Given the description of an element on the screen output the (x, y) to click on. 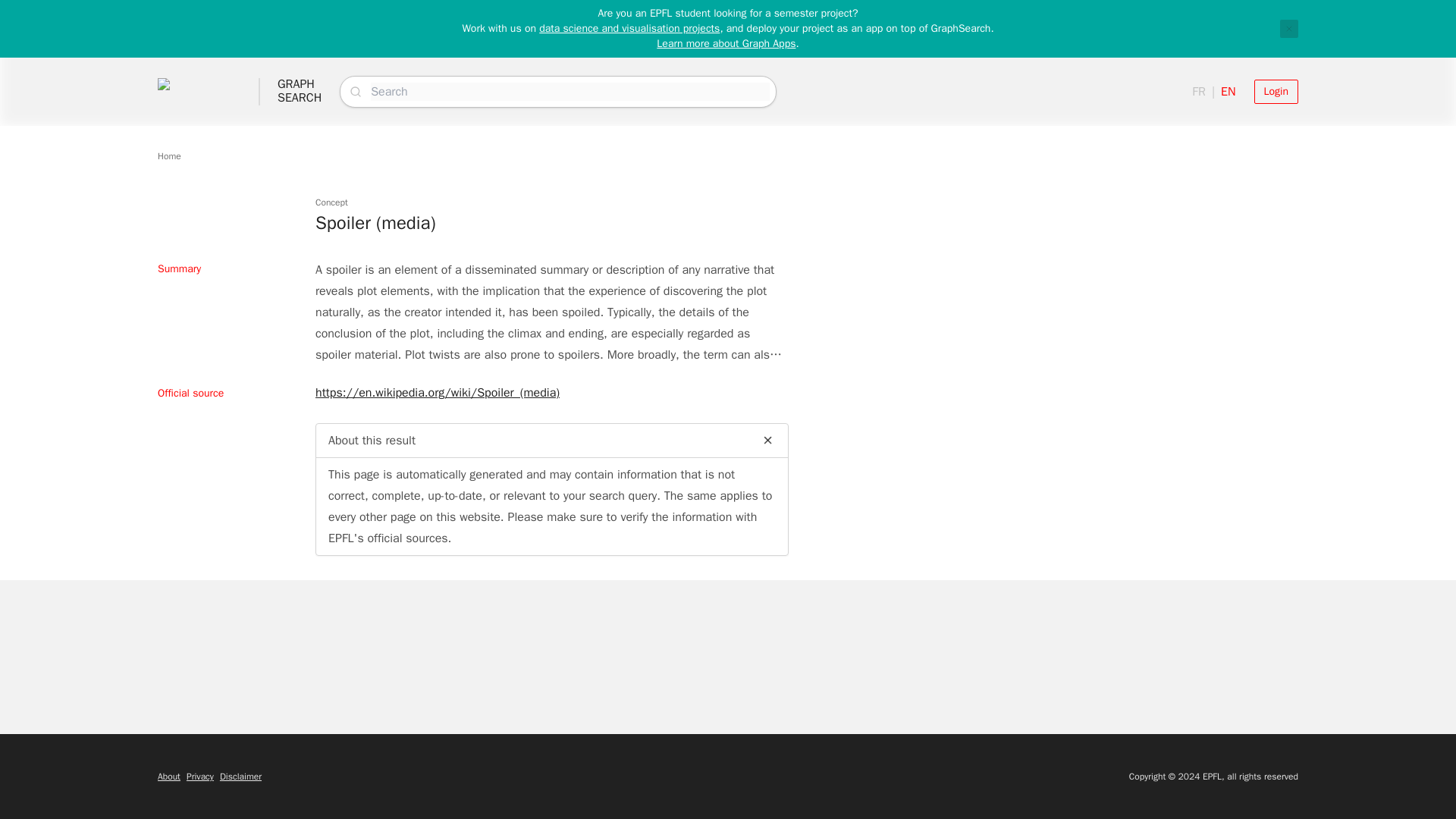
Learn more about Graph Apps (725, 42)
Close notification (1288, 28)
Home (299, 90)
About (168, 155)
Login (168, 776)
Privacy (1275, 91)
data science and visualisation projects (200, 776)
Disclaimer (628, 28)
